Given the description of an element on the screen output the (x, y) to click on. 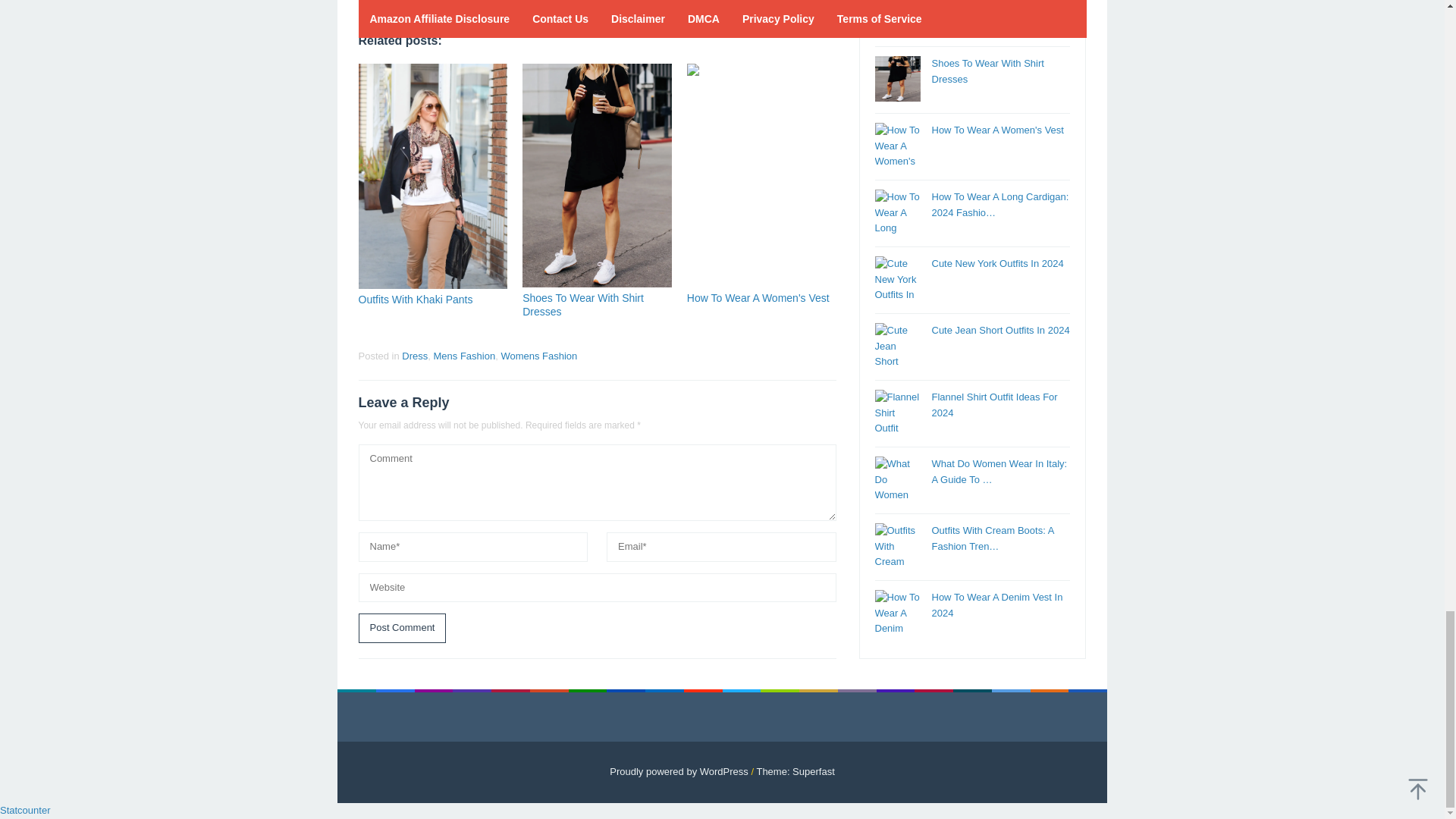
Post Comment (401, 627)
